Given the description of an element on the screen output the (x, y) to click on. 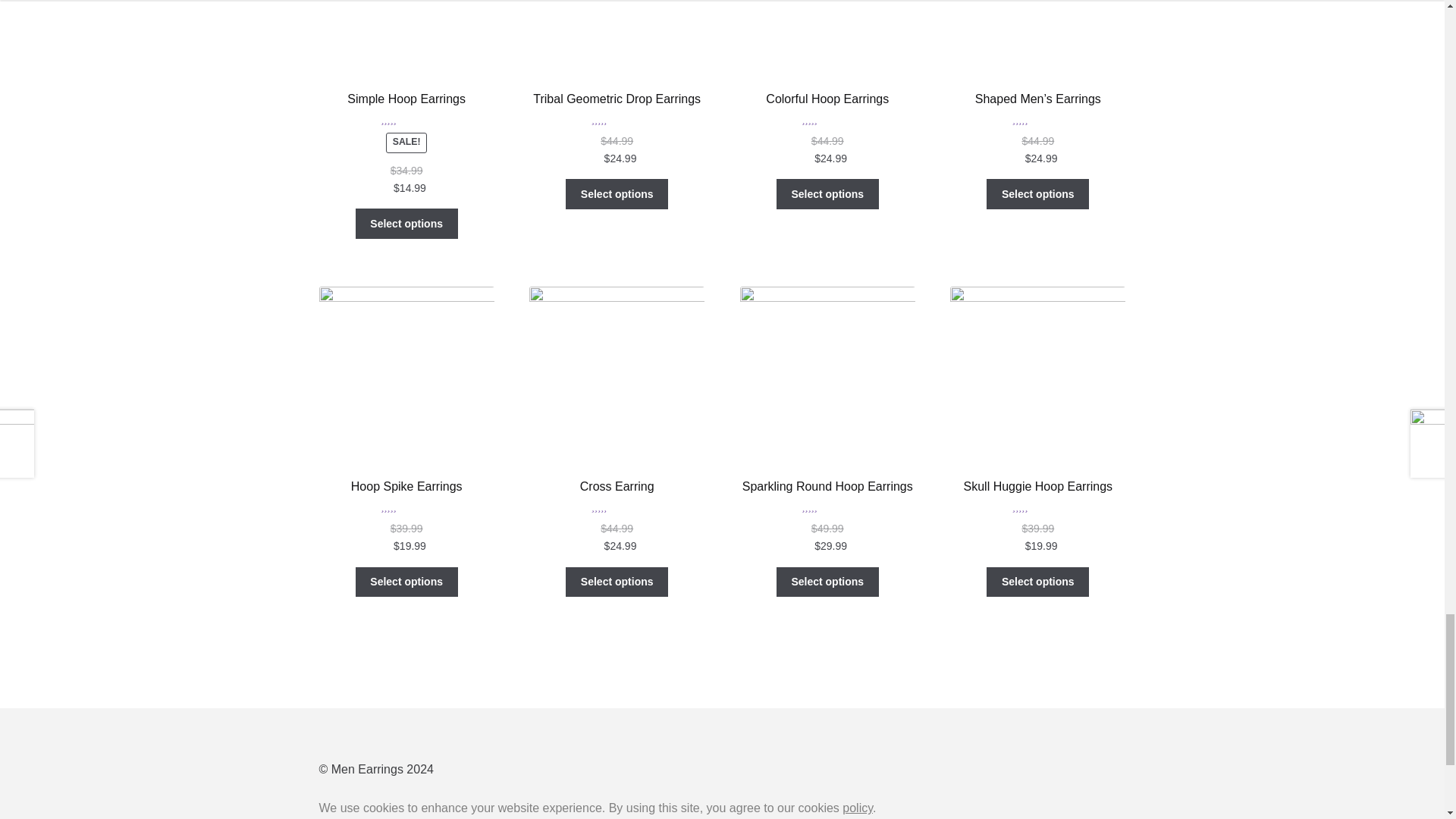
Select options (617, 582)
Select options (827, 194)
Select options (1038, 194)
Select options (617, 194)
Select options (406, 582)
Select options (406, 223)
